Given the description of an element on the screen output the (x, y) to click on. 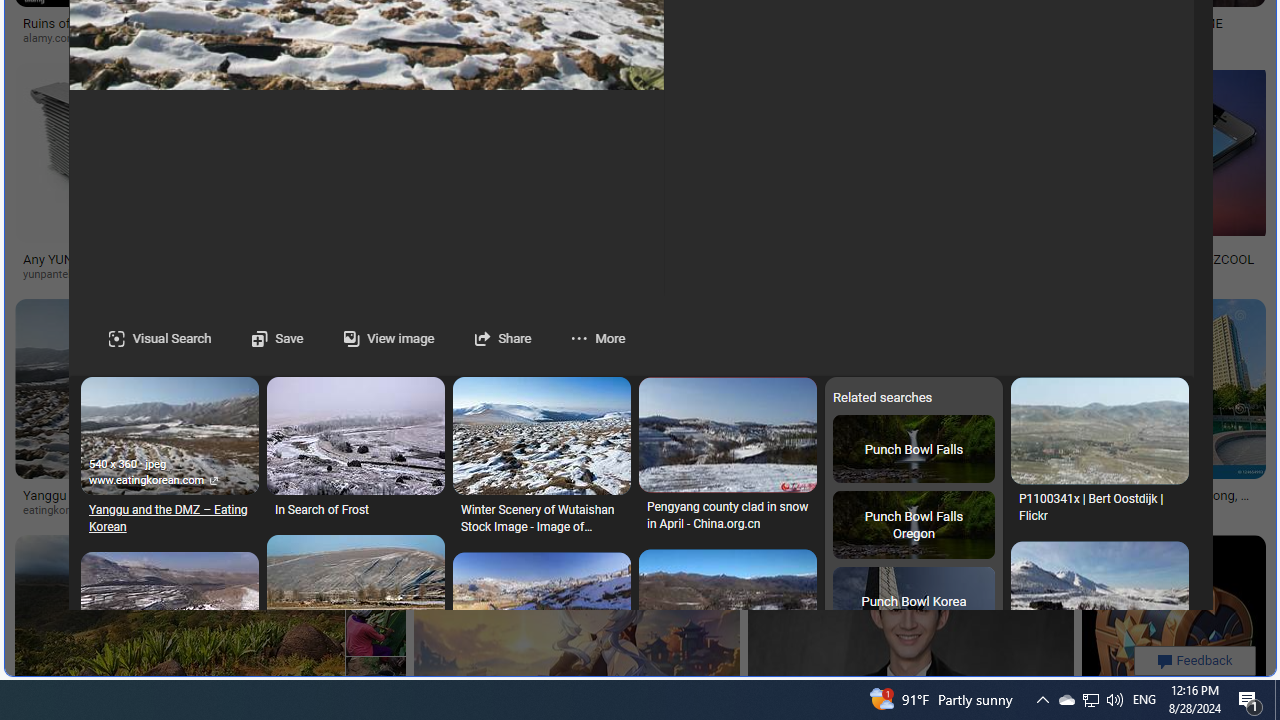
In Search of Frost (355, 511)
